Given the description of an element on the screen output the (x, y) to click on. 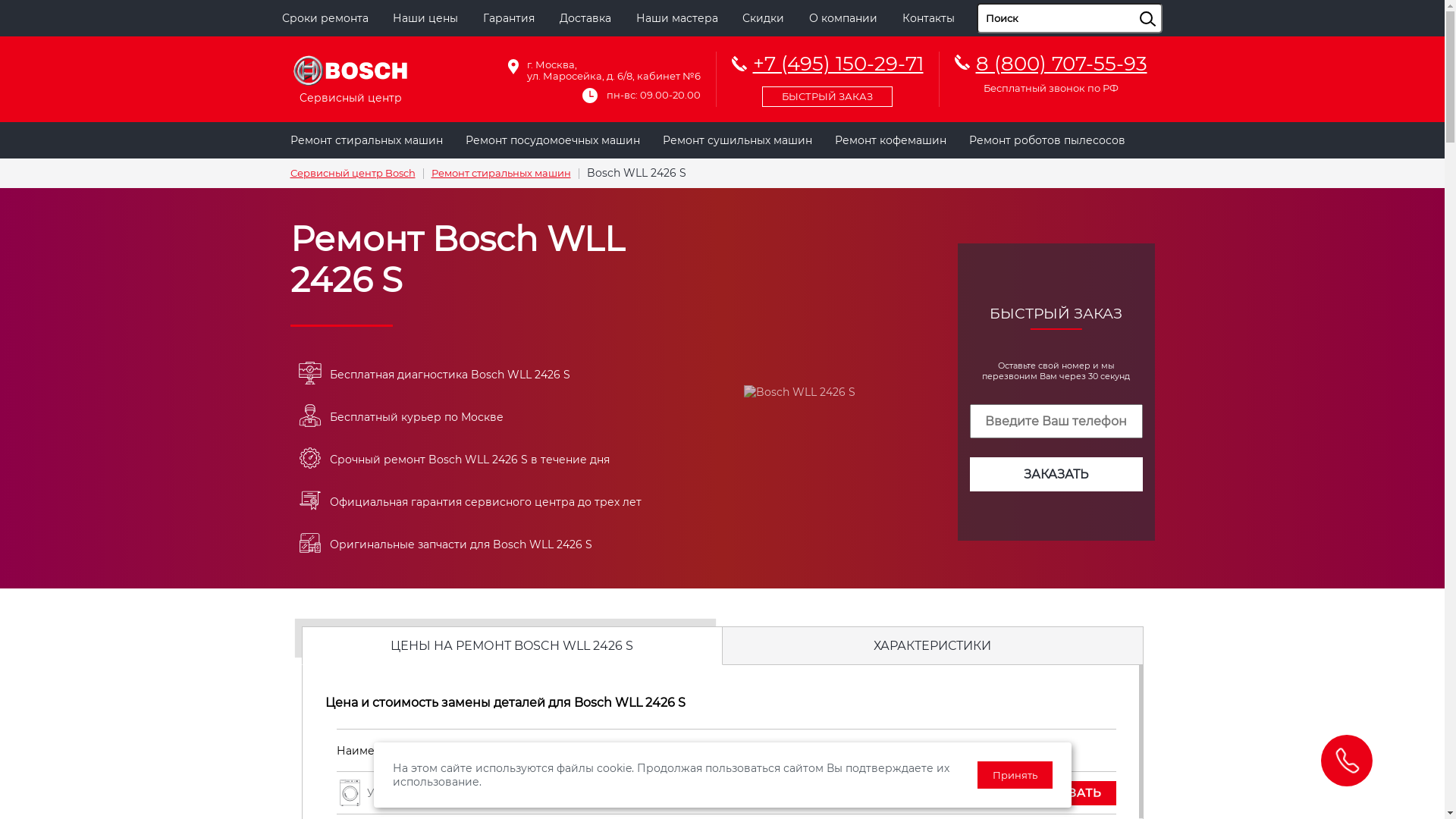
sisea.search Element type: text (1165, 3)
+7 (495) 150-29-71 Element type: text (826, 77)
8 (800) 707-55-93 Element type: text (1060, 63)
